Given the description of an element on the screen output the (x, y) to click on. 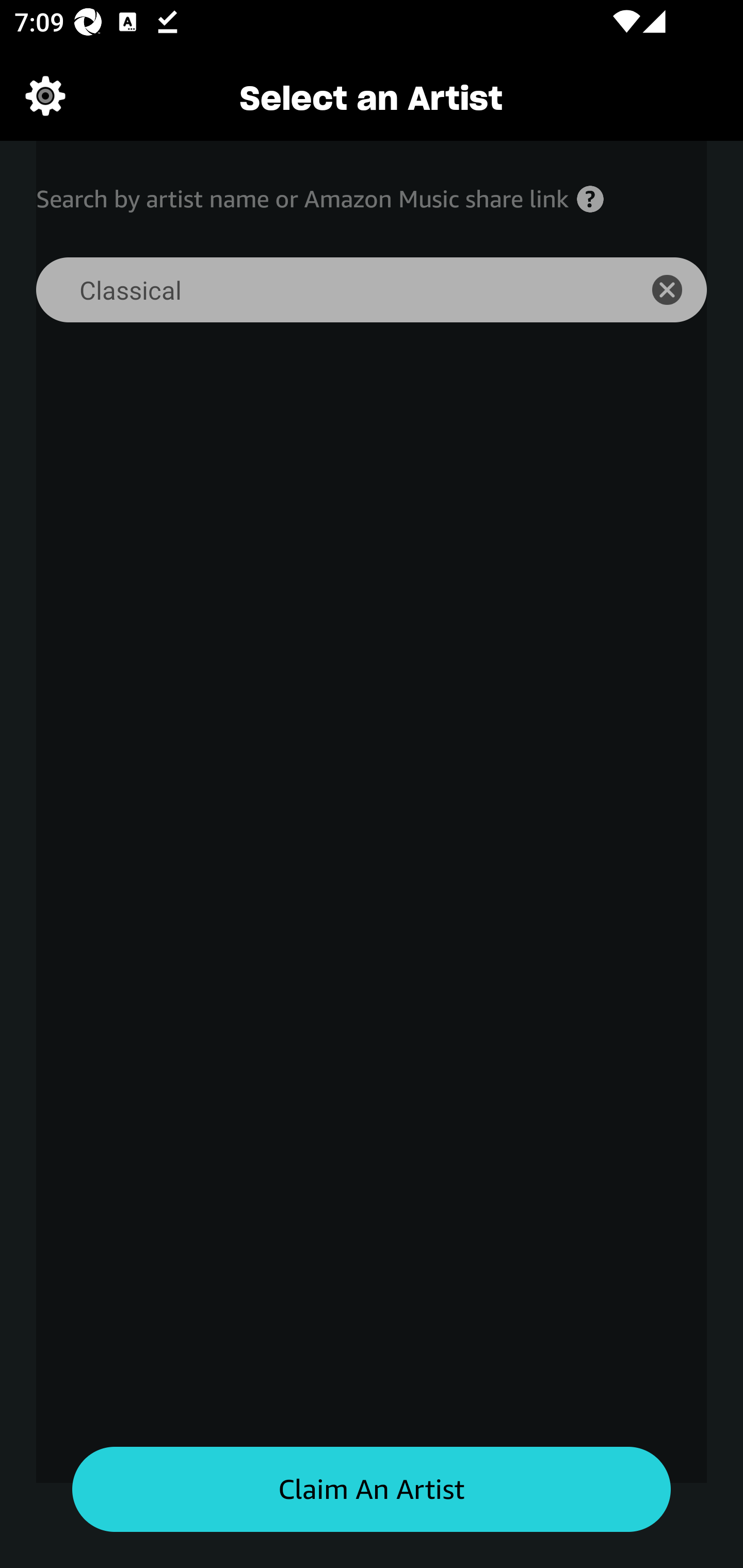
Help  icon (589, 199)
Classical Search for an artist search bar (324, 290)
 icon (677, 290)
Claim an artist button Claim An Artist (371, 1489)
